Given the description of an element on the screen output the (x, y) to click on. 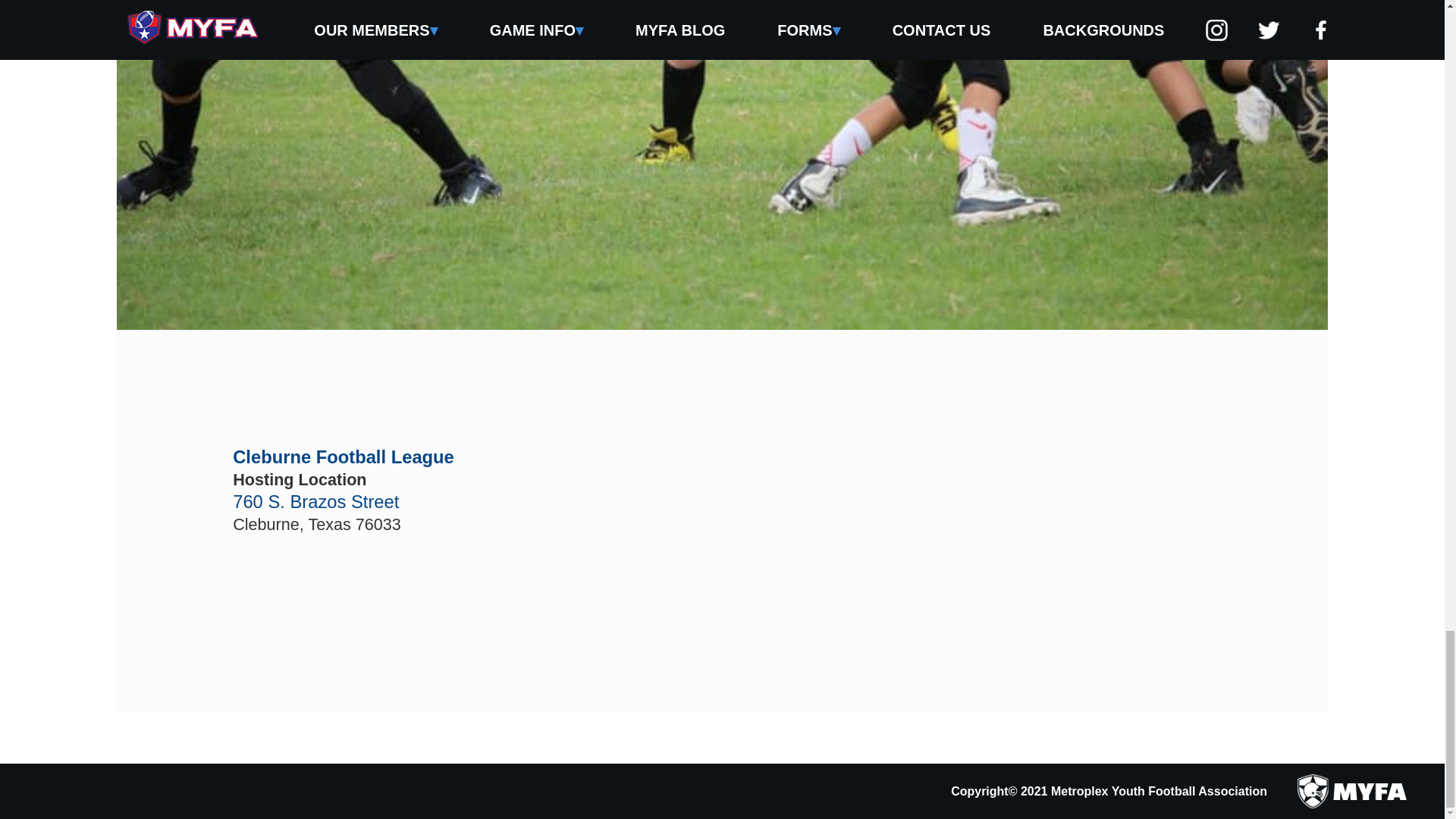
Cleburne Football League (343, 456)
